Given the description of an element on the screen output the (x, y) to click on. 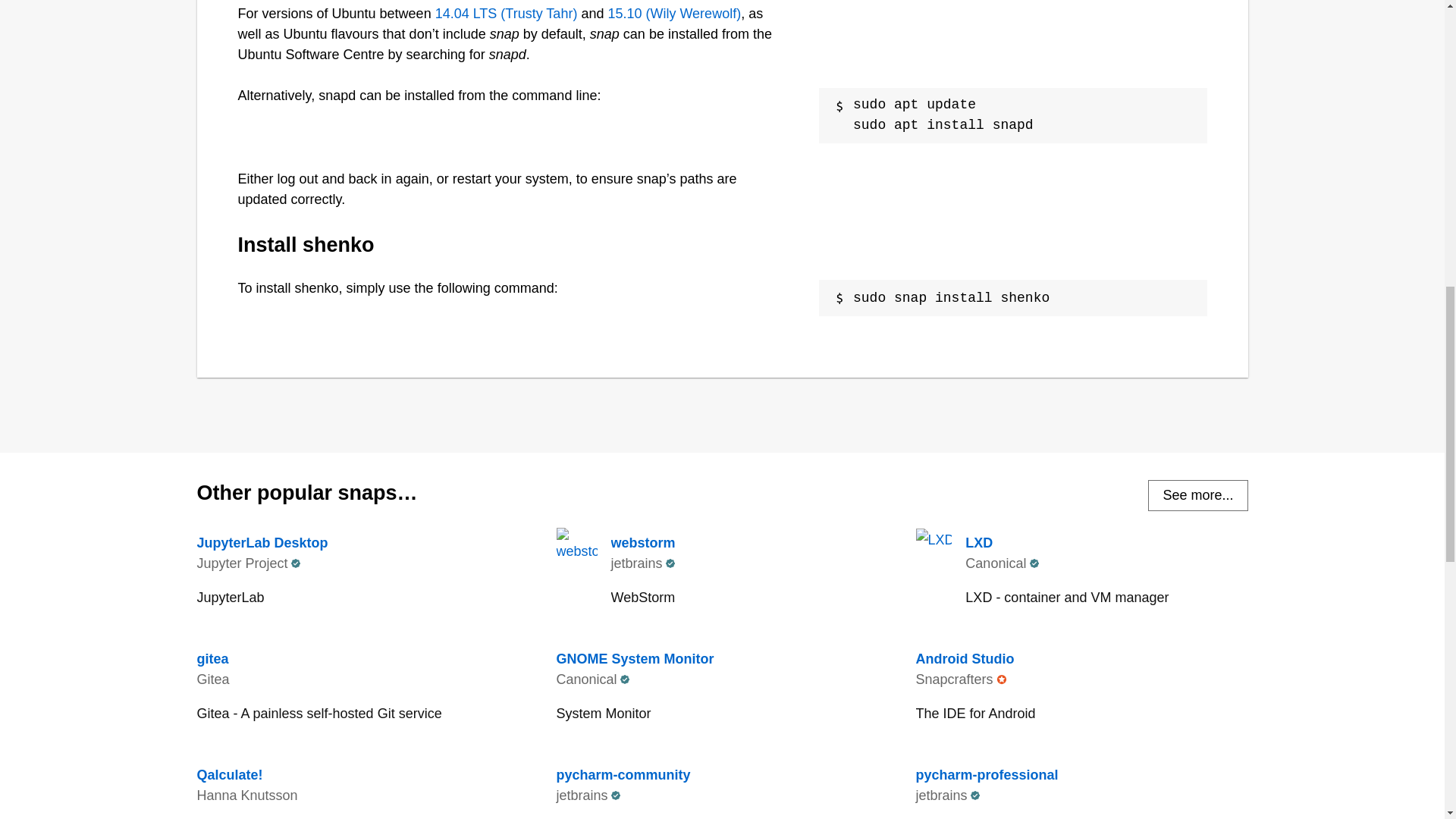
See more... (1197, 495)
